Given the description of an element on the screen output the (x, y) to click on. 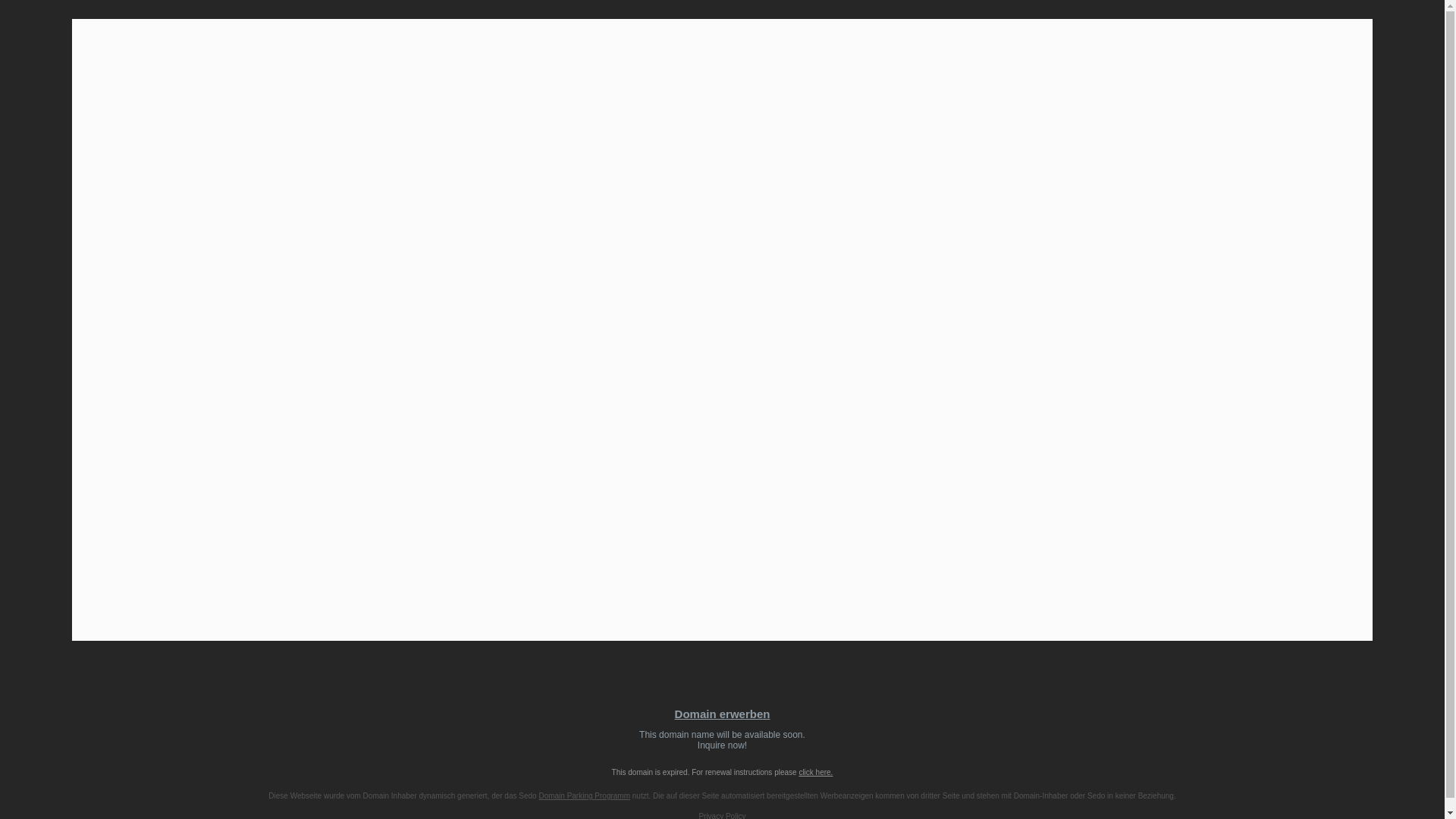
Domain erwerben (722, 713)
Domain Parking Programm (584, 795)
click here. (722, 740)
